Given the description of an element on the screen output the (x, y) to click on. 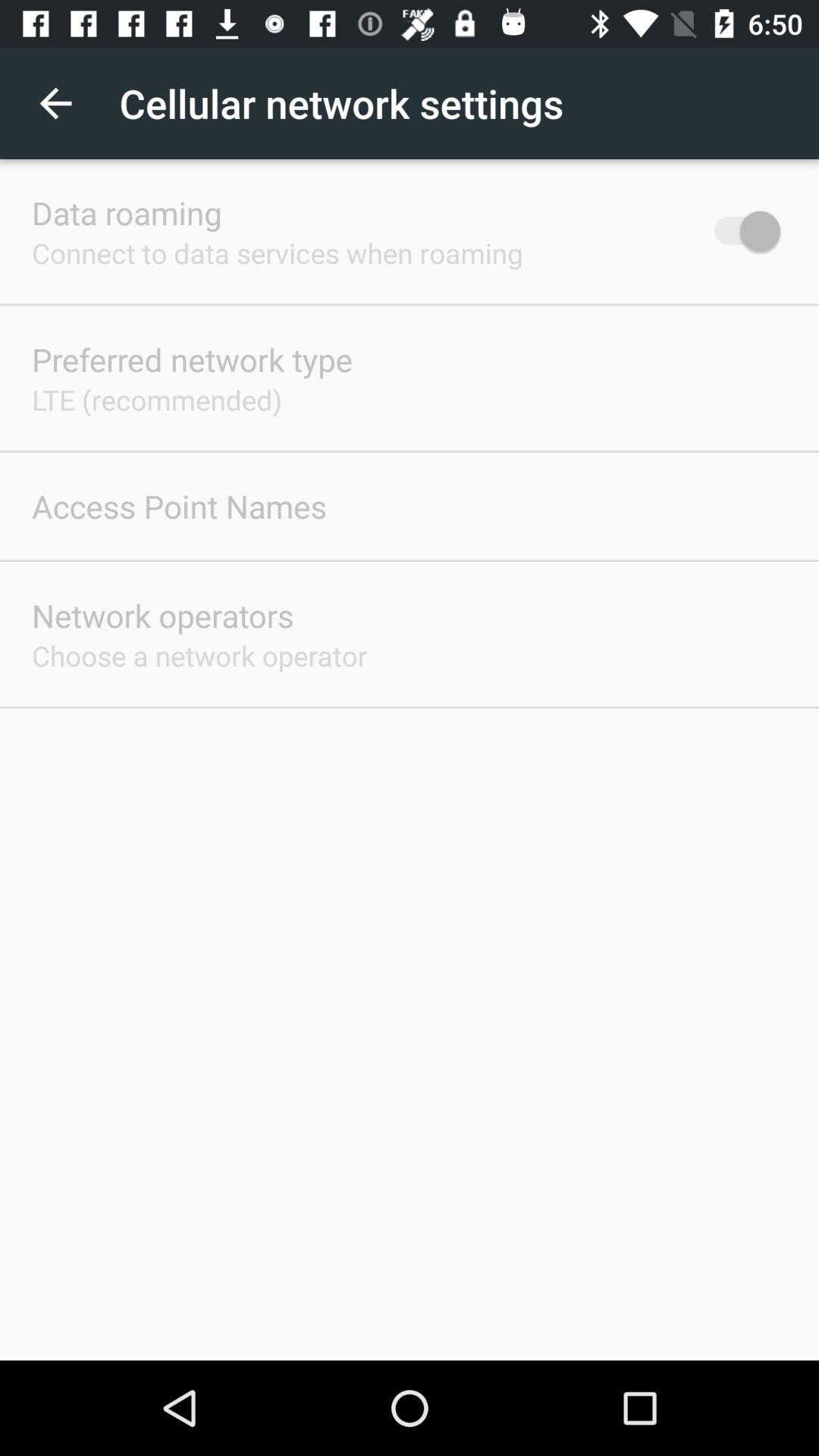
choose the access point names app (179, 505)
